Given the description of an element on the screen output the (x, y) to click on. 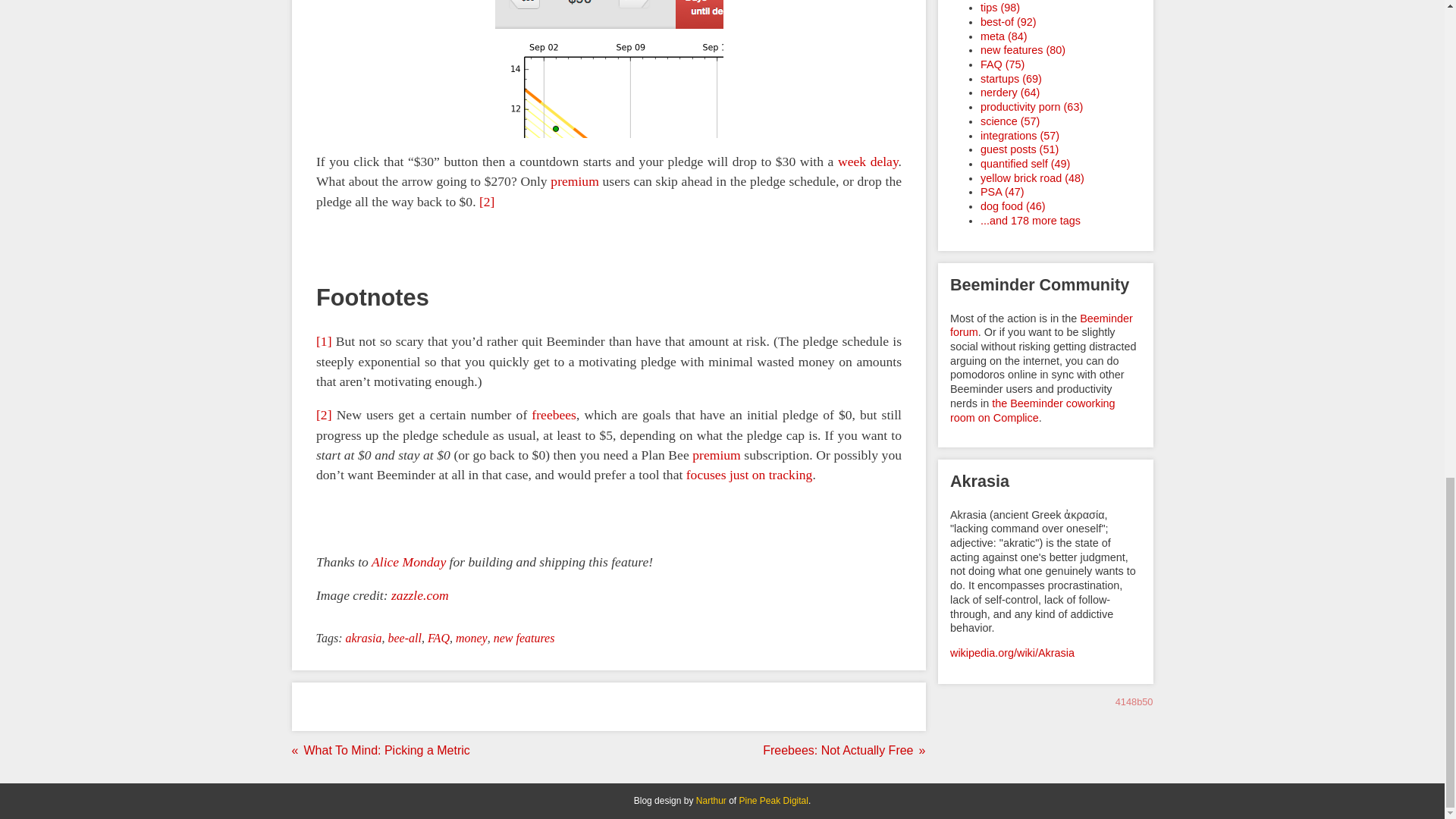
A link to the Beeminder glossary! (553, 414)
premium (574, 181)
week delay (867, 160)
akrasia (363, 638)
zazzle.com (419, 595)
premium (717, 454)
FAQ (438, 638)
freebees (553, 414)
money (471, 638)
Freebees: Not Actually Free (840, 750)
focuses just on tracking (748, 475)
bee-all (403, 638)
What To Mind: Picking a Metric (383, 750)
